Given the description of an element on the screen output the (x, y) to click on. 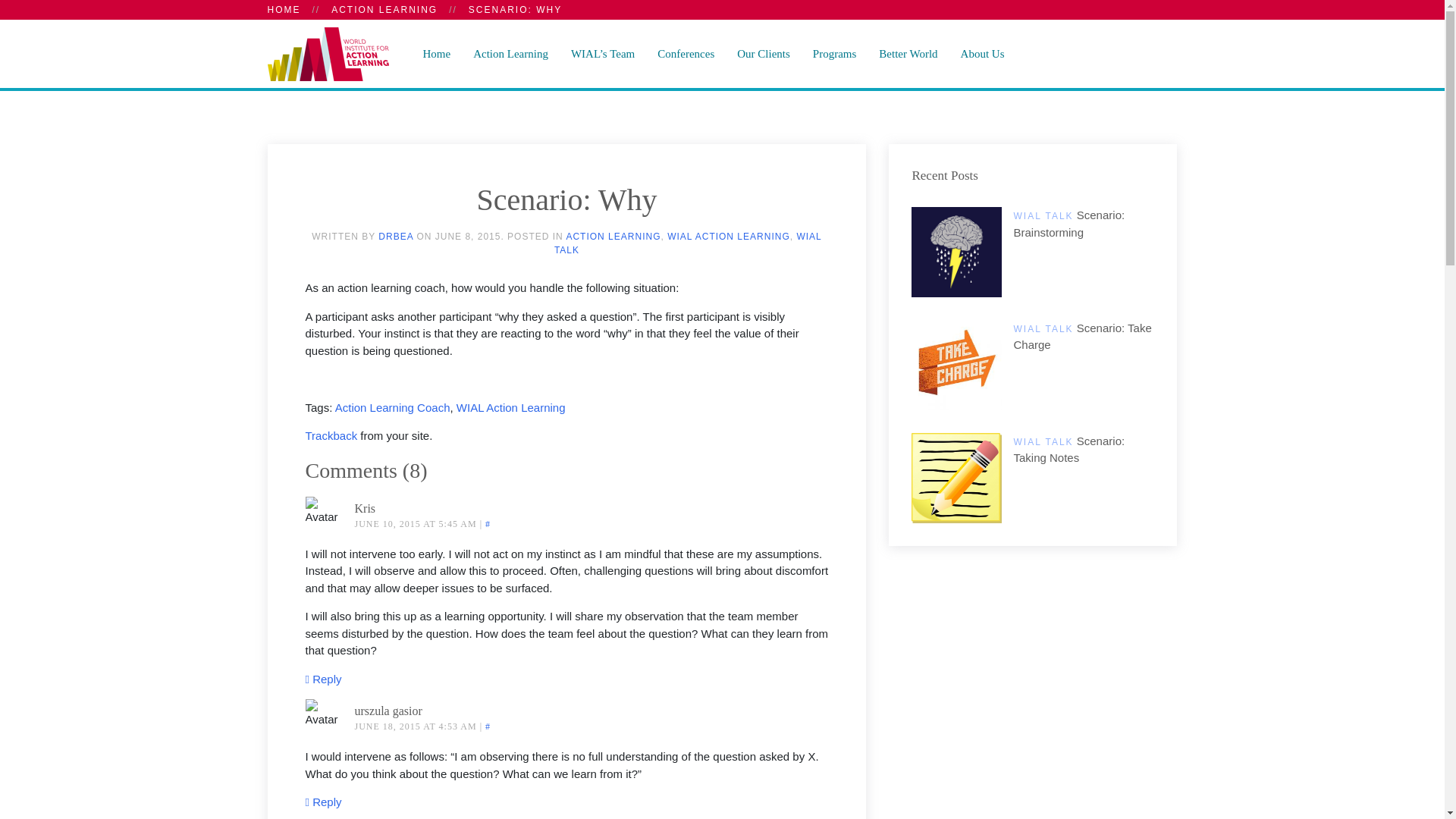
Our Clients (763, 53)
DrBea (395, 235)
Conferences (685, 53)
ACTION LEARNING (384, 9)
About Us (982, 53)
Programs (834, 53)
Better World (908, 53)
HOME (282, 9)
Action Learning (510, 53)
